Given the description of an element on the screen output the (x, y) to click on. 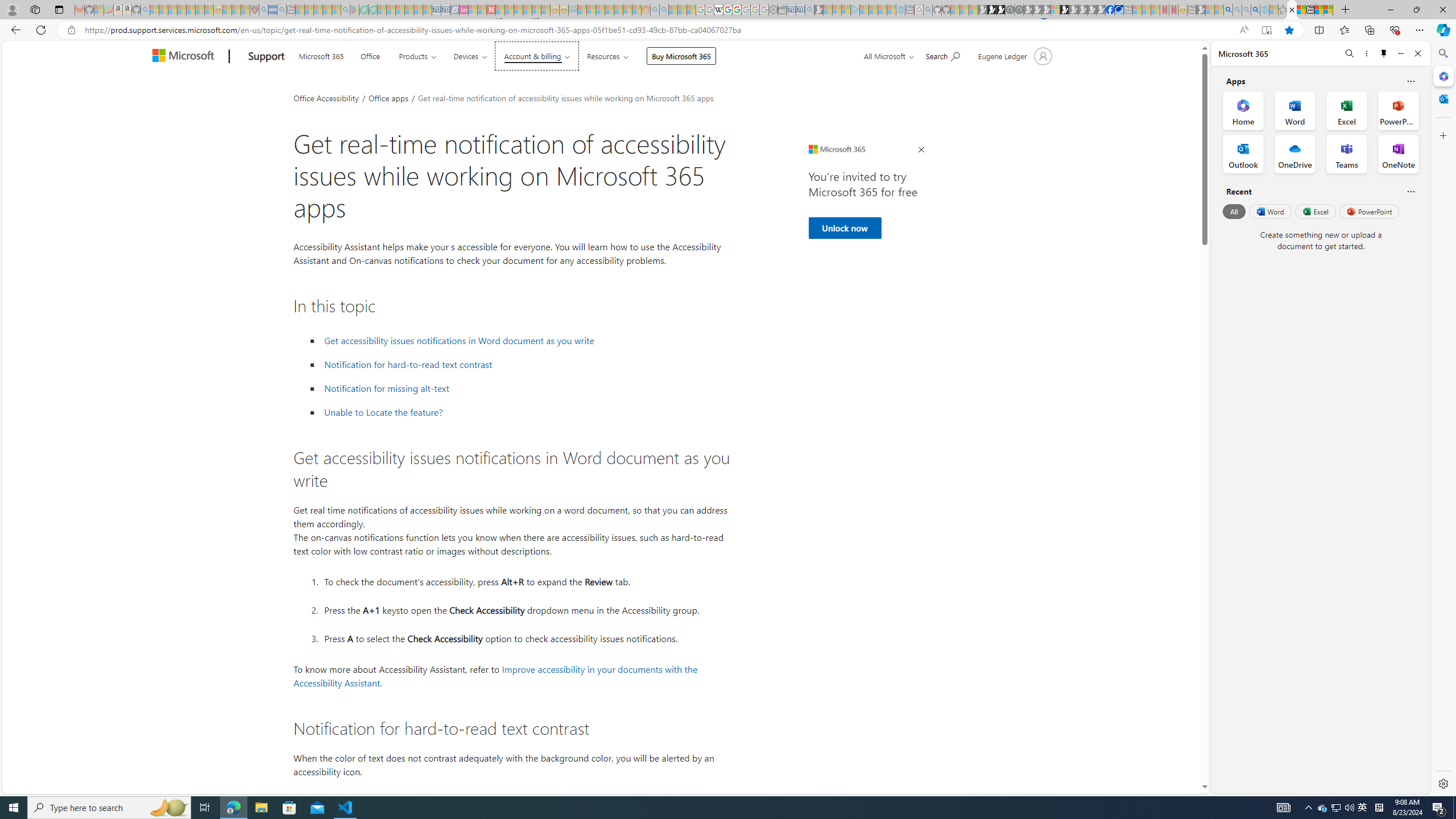
More options (1366, 53)
Word (1269, 210)
New tab - Sleeping (1191, 9)
Notification for hard-to-read text contrast (525, 364)
Privacy Help Center - Policies Help (726, 9)
DITOGAMES AG Imprint - Sleeping (572, 9)
Close Customize pane (1442, 135)
Aberdeen, Hong Kong SAR weather forecast | Microsoft Weather (1300, 9)
Target page - Wikipedia (718, 9)
14 Common Myths Debunked By Scientific Facts - Sleeping (508, 9)
AirNow.gov (1118, 9)
